Given the description of an element on the screen output the (x, y) to click on. 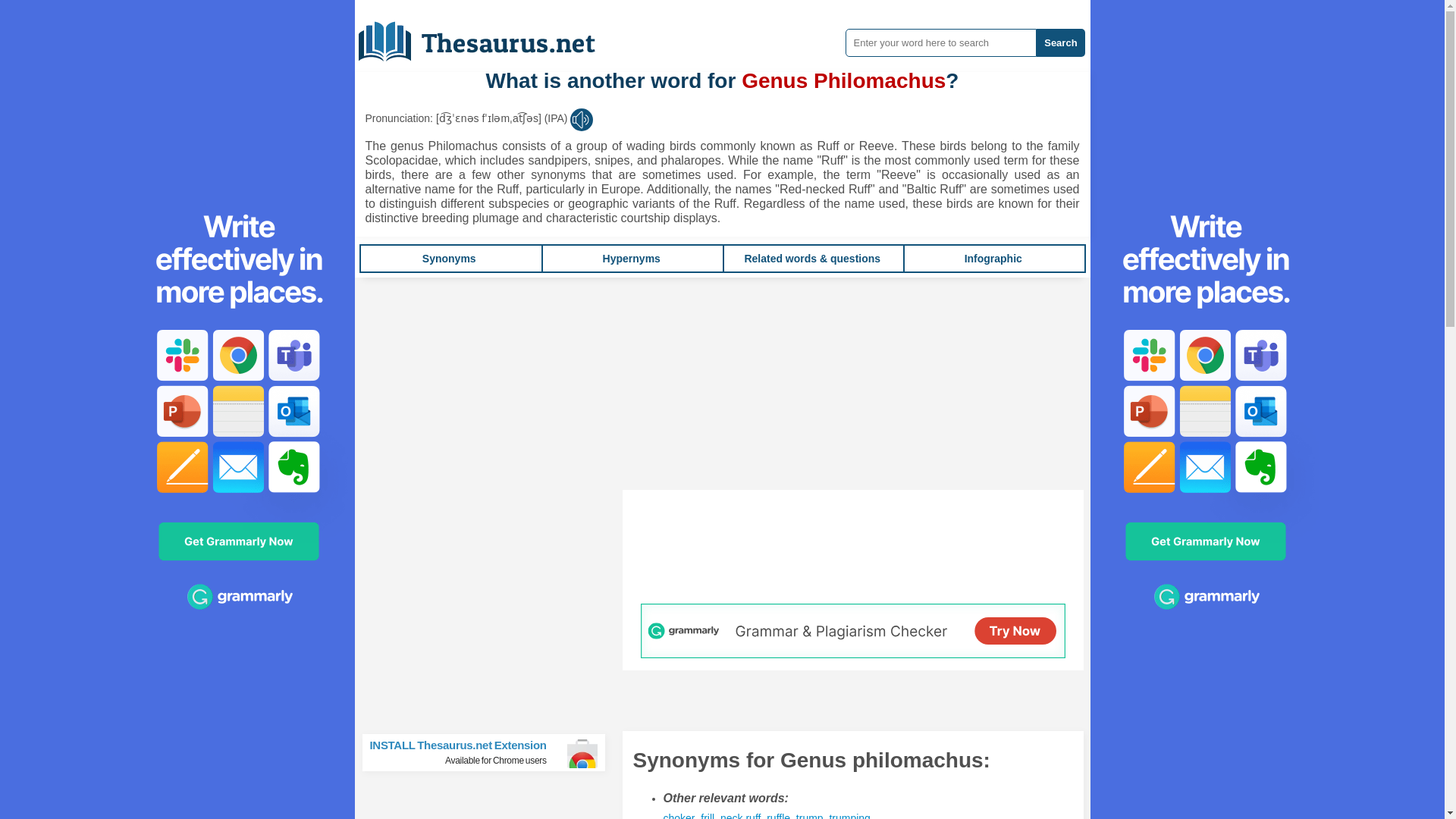
ruffle (778, 815)
Synonyms for Genus philomachus (810, 815)
Synonyms for Genus philomachus (740, 815)
Hypernyms (631, 258)
Synonyms (449, 258)
Synonyms for Genus philomachus (848, 815)
Synonyms for Genus philomachus (678, 815)
trumping (848, 815)
Synonyms for Genus philomachus (707, 815)
frill (707, 815)
Infographic (992, 258)
Hypernyms (631, 258)
Synonyms for Genus philomachus (778, 815)
trump (810, 815)
choker (678, 815)
